Given the description of an element on the screen output the (x, y) to click on. 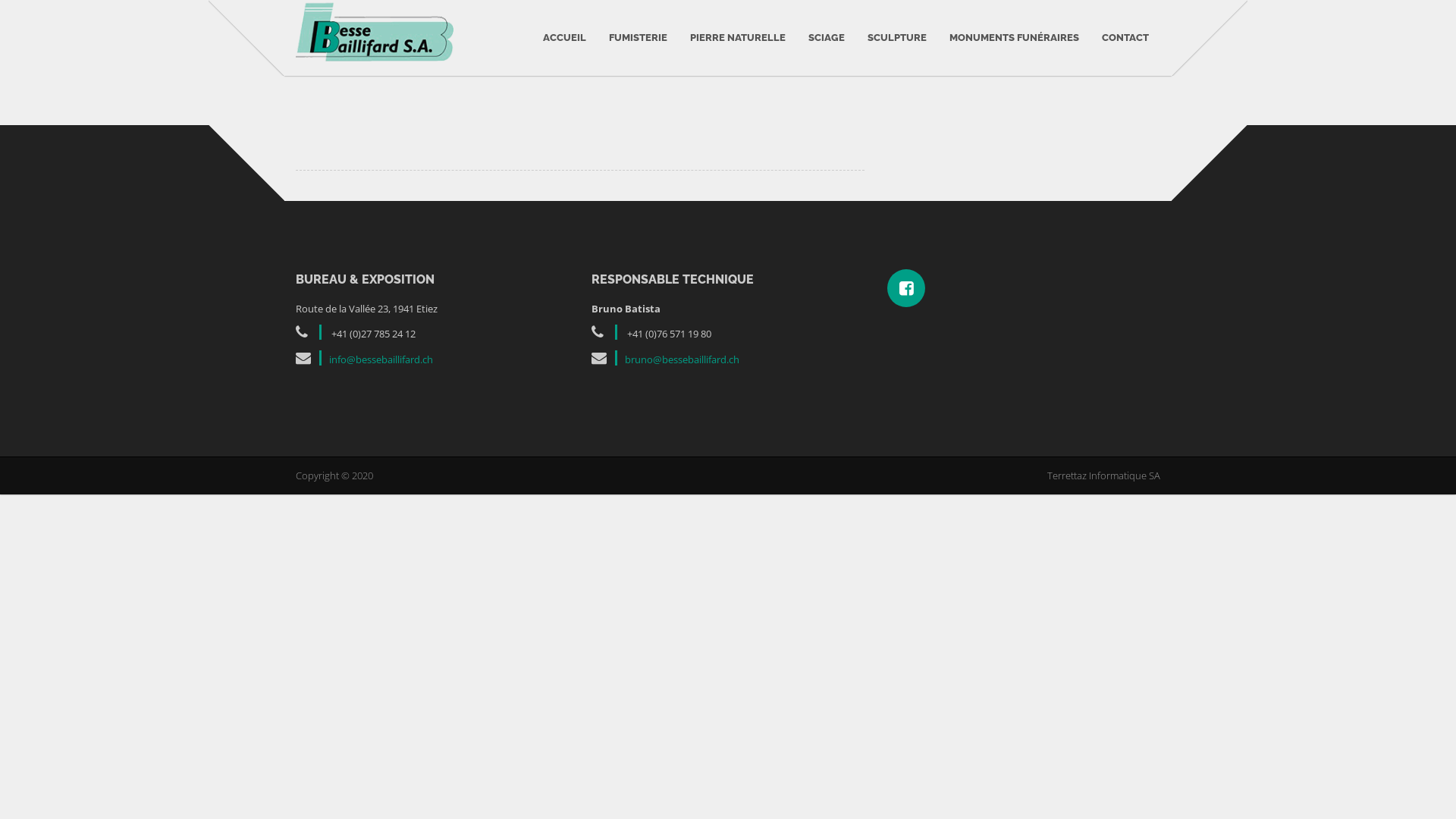
CONTACT Element type: text (1124, 37)
info@bessebaillifard.ch Element type: text (381, 359)
SCULPTURE Element type: text (896, 37)
PIERRE NATURELLE Element type: text (737, 37)
bruno@bessebaillifard.ch Element type: text (681, 359)
ACCUEIL Element type: text (564, 37)
SCIAGE Element type: text (826, 37)
FUMISTERIE Element type: text (637, 37)
